Given the description of an element on the screen output the (x, y) to click on. 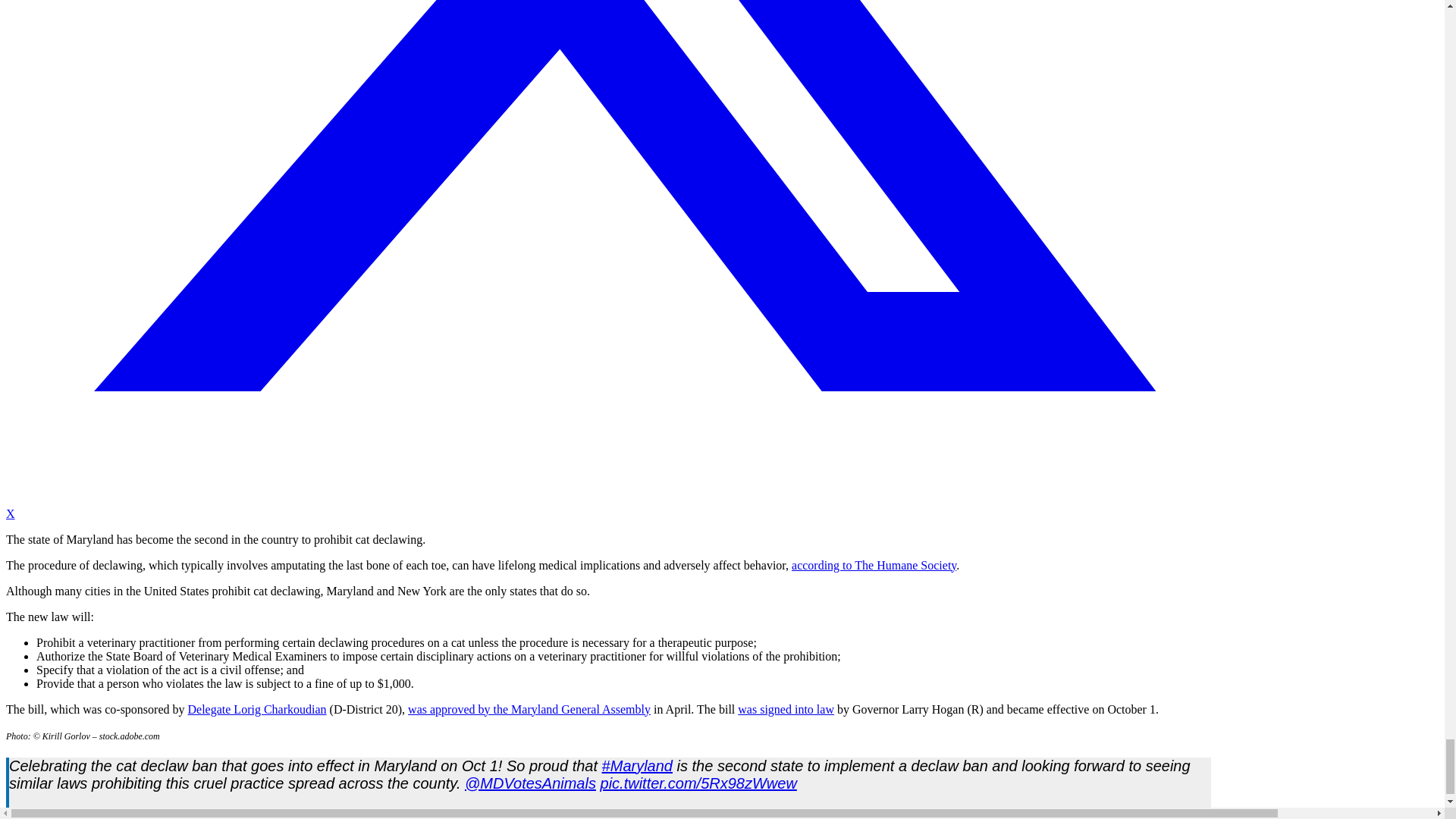
was signed into law (786, 708)
according to The Humane Society (874, 564)
Delegate Lorig Charkoudian (256, 708)
X (609, 506)
was approved by the Maryland General Assembly (528, 708)
